Given the description of an element on the screen output the (x, y) to click on. 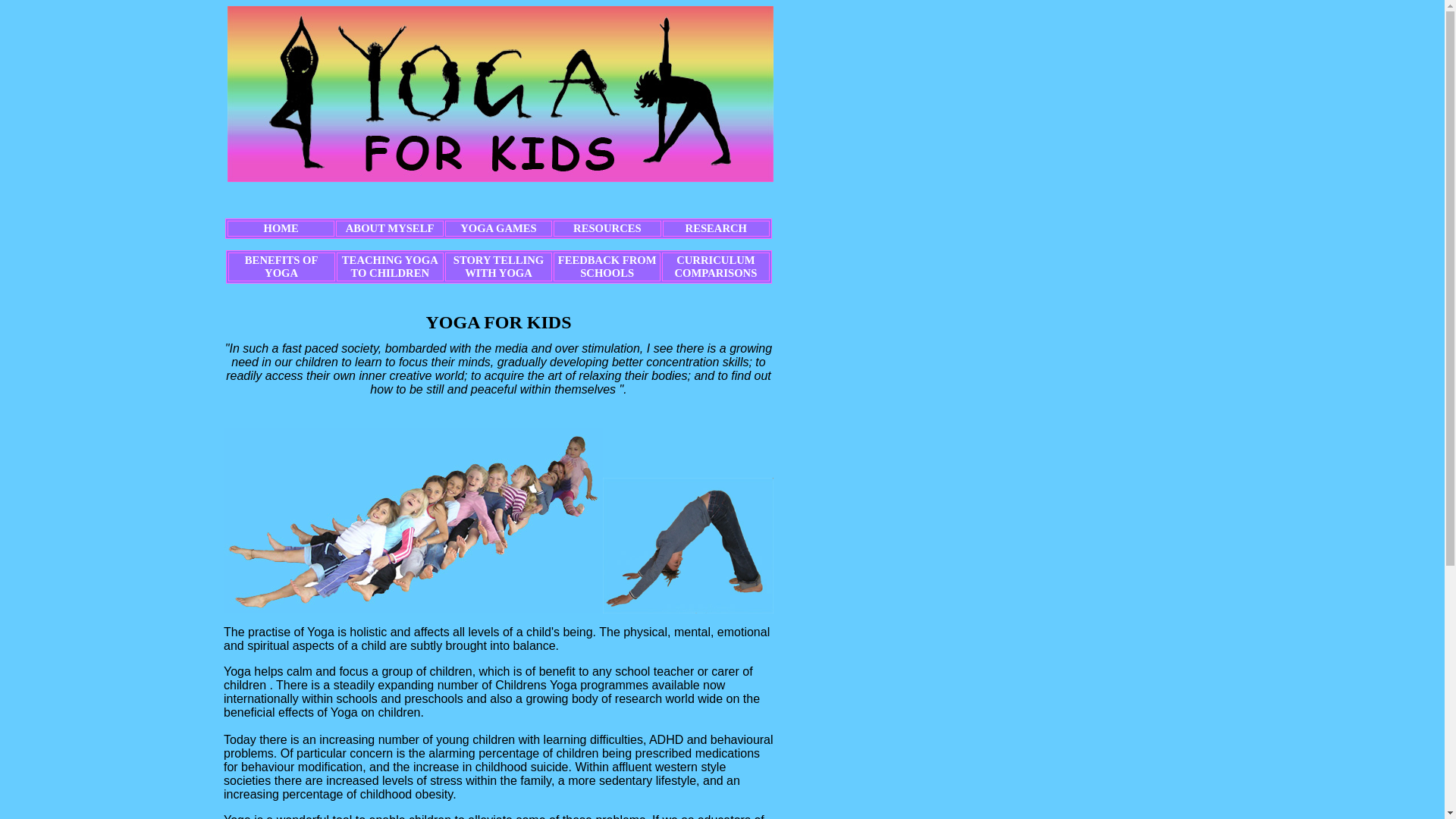
YOGA FOR KIDS Element type: text (498, 325)
BENEFITS OF YOGA Element type: text (281, 267)
YOGA GAMES Element type: text (498, 228)
ABOUT MYSELF Element type: text (389, 228)
HOME Element type: text (280, 228)
RESOURCES Element type: text (607, 228)
TEACHING YOGA TO CHILDREN Element type: text (390, 267)
CURRICULUM COMPARISONS Element type: text (715, 267)
FEEDBACK FROM SCHOOLS Element type: text (607, 267)
STORY TELLING WITH YOGA Element type: text (498, 266)
